Given the description of an element on the screen output the (x, y) to click on. 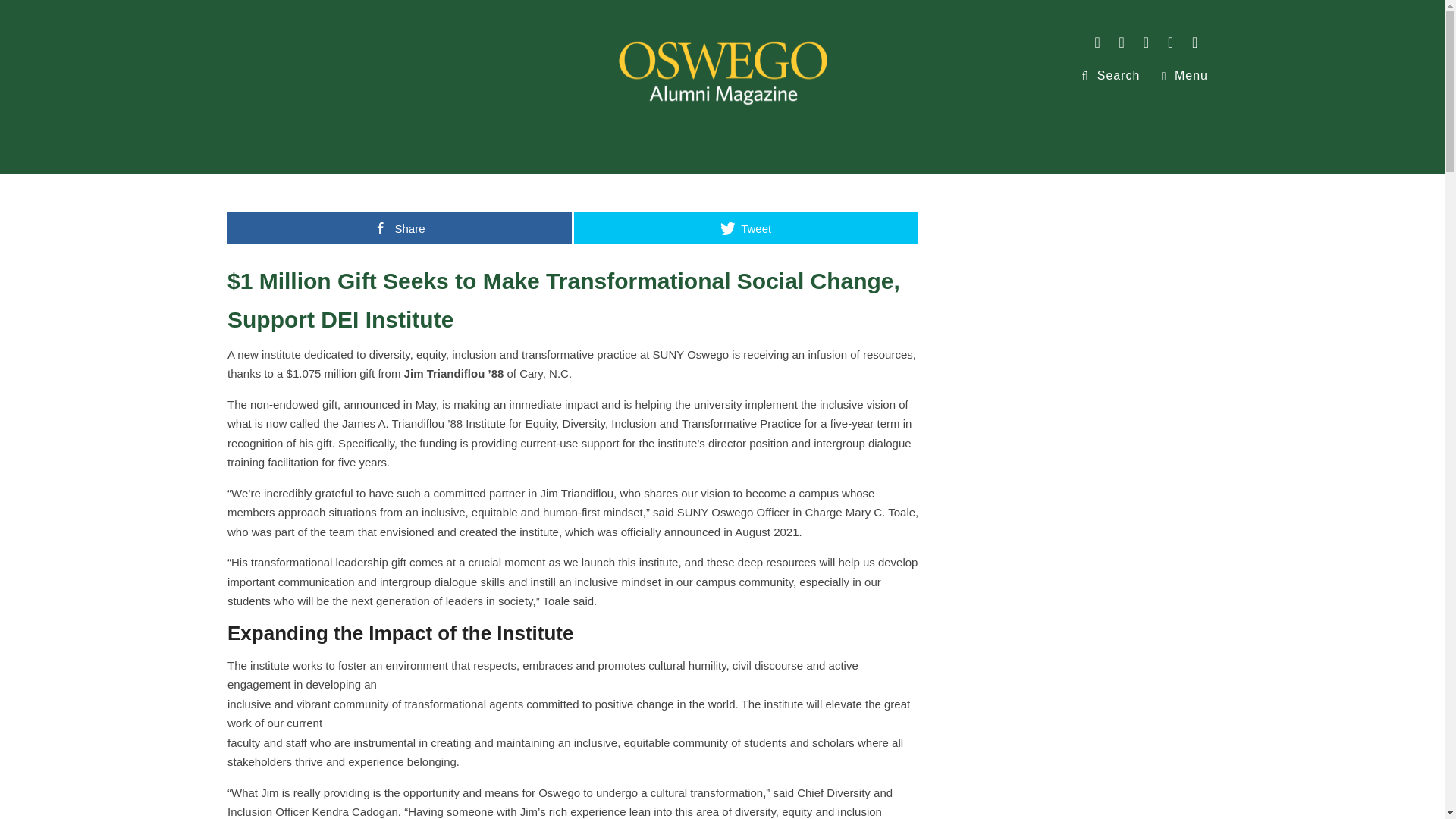
Search (1109, 74)
Menu (1185, 74)
